Given the description of an element on the screen output the (x, y) to click on. 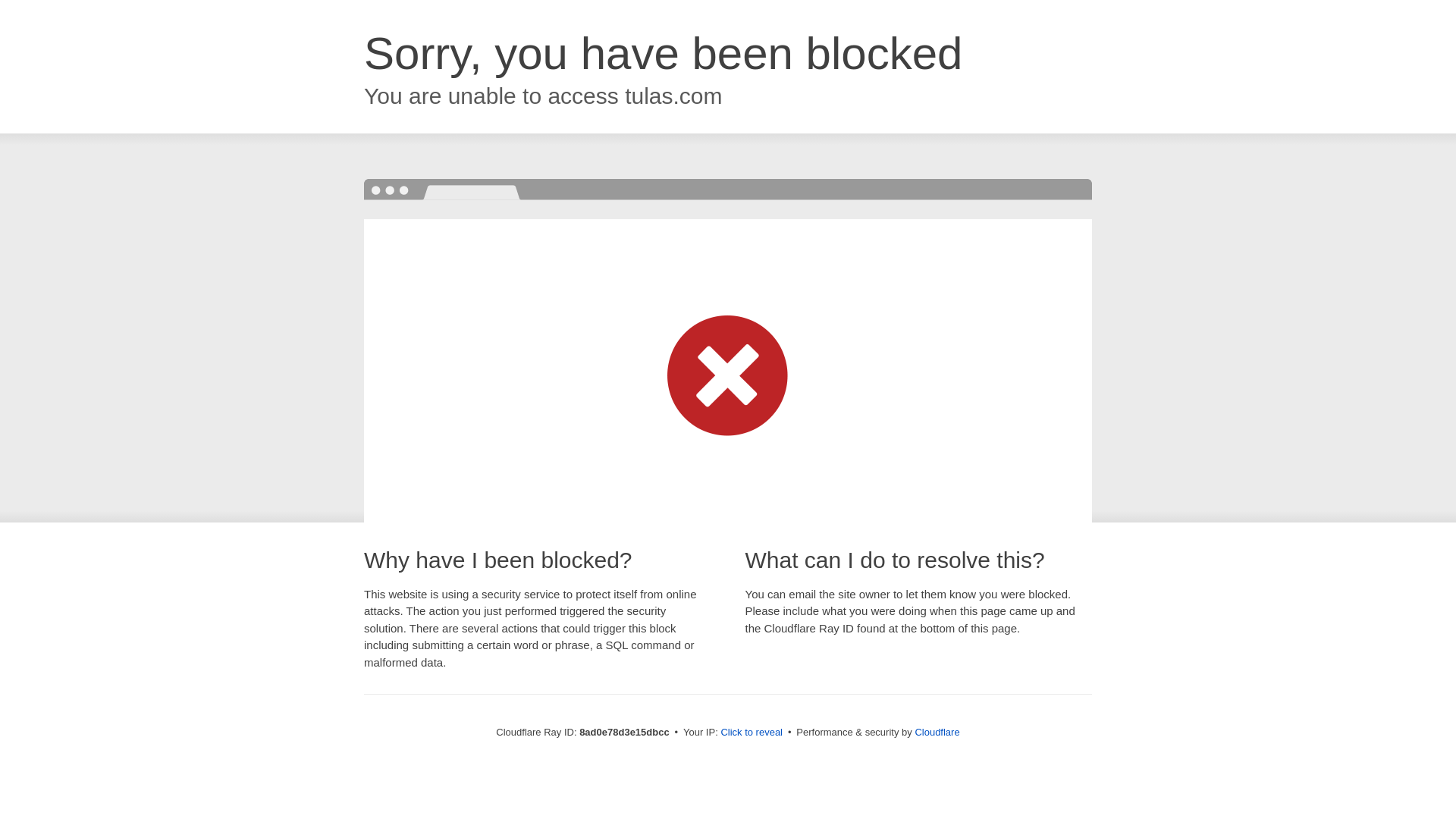
Cloudflare (936, 731)
Click to reveal (751, 732)
